Given the description of an element on the screen output the (x, y) to click on. 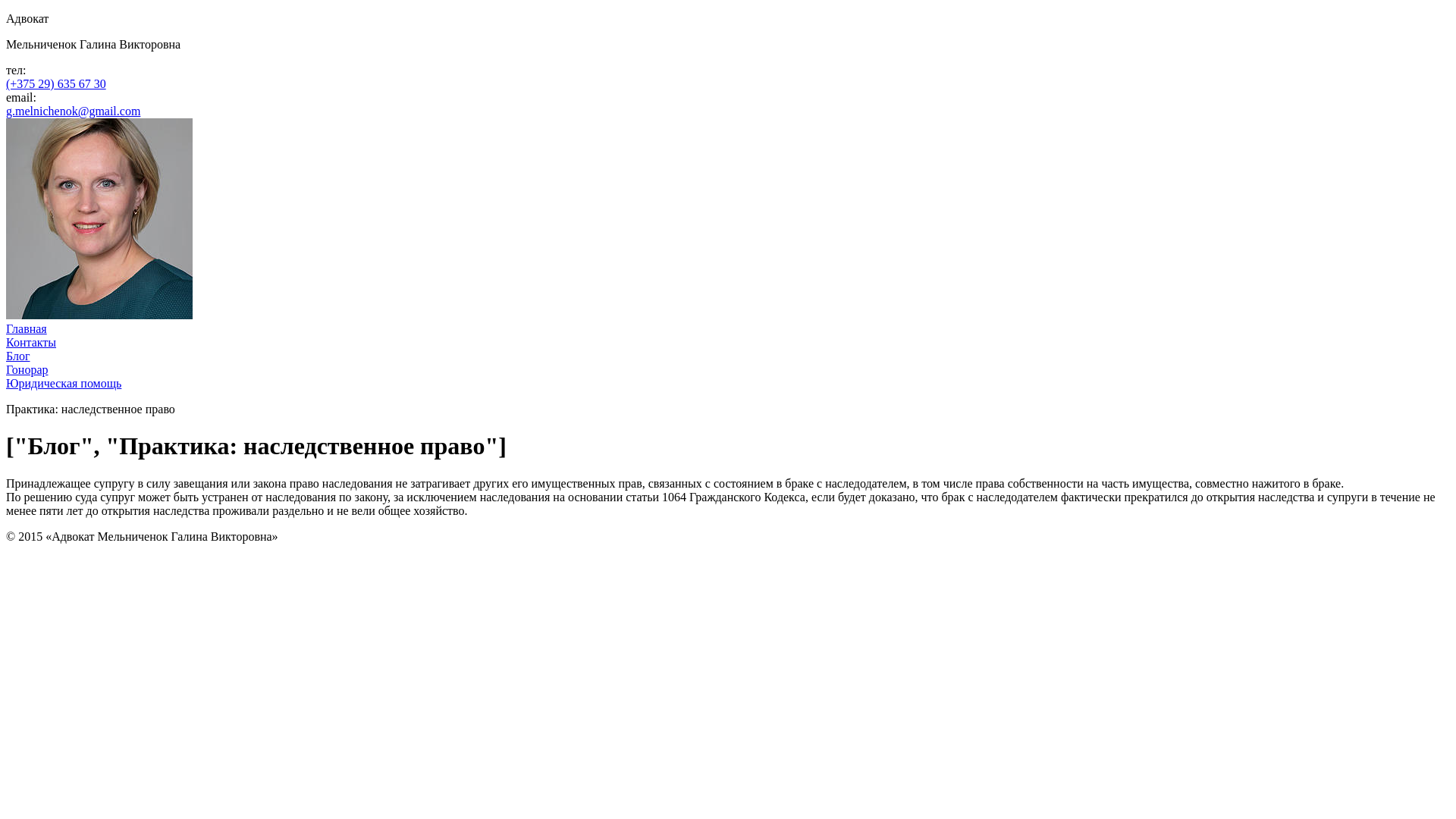
(+375 29) 635 67 30 Element type: text (56, 83)
g.melnichenok@gmail.com Element type: text (73, 110)
